Given the description of an element on the screen output the (x, y) to click on. 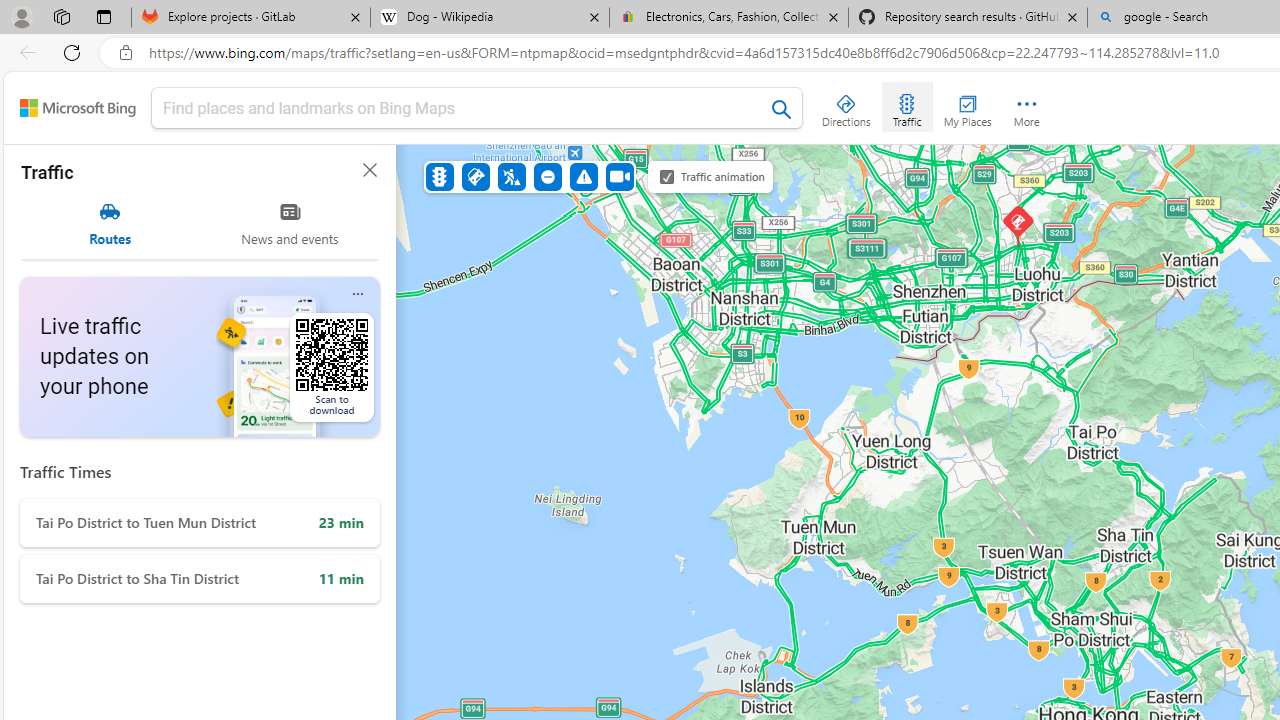
Dog - Wikipedia (490, 17)
Cameras (619, 176)
More (1026, 106)
Traffic (906, 106)
News and events (290, 223)
Live traffic updates on your phone Scan to download (200, 357)
Road Closures (547, 176)
Back to Bing search (77, 107)
Directions (846, 106)
